Given the description of an element on the screen output the (x, y) to click on. 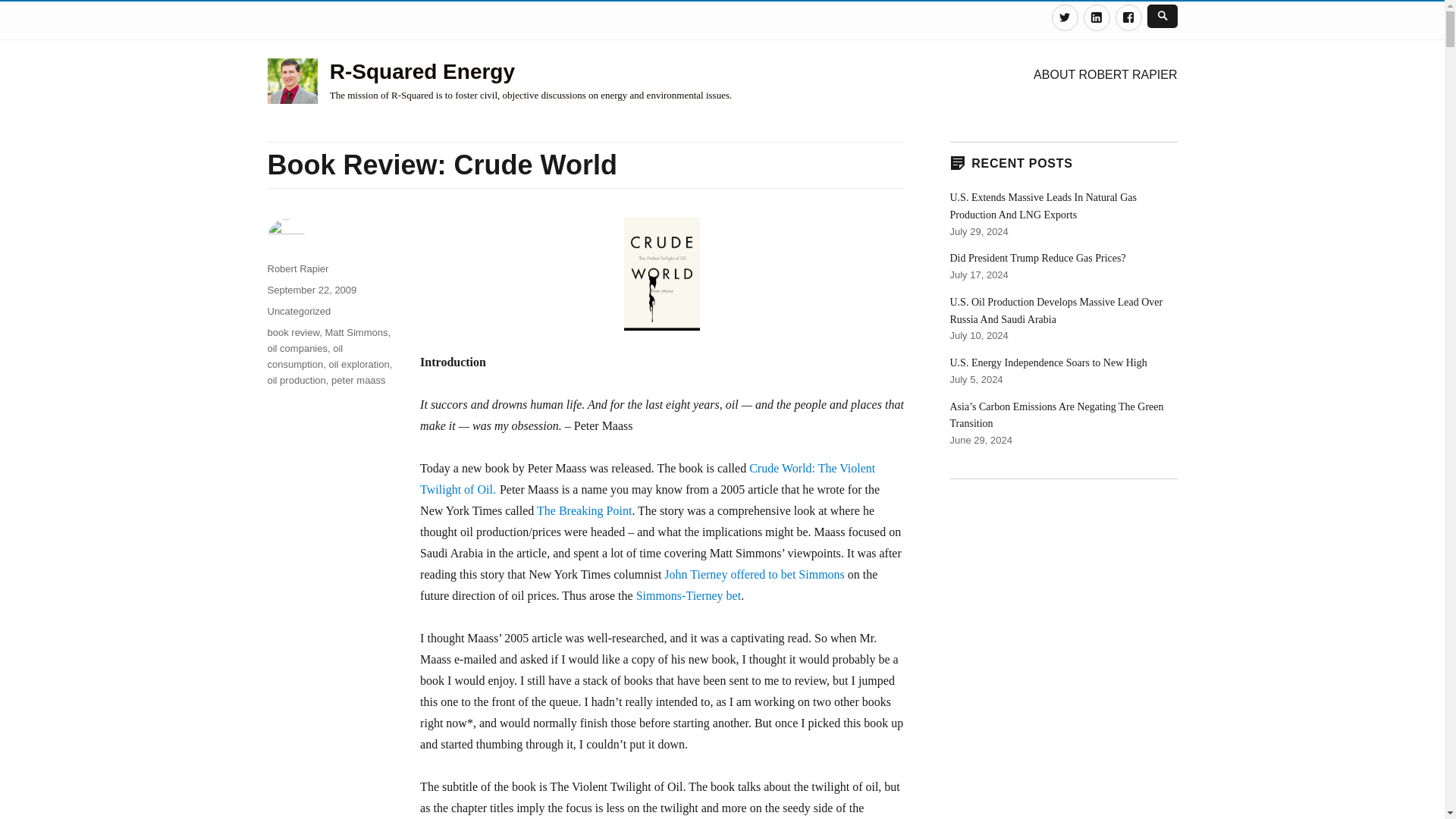
Facebook (1128, 17)
Linkedin (1096, 17)
ABOUT ROBERT RAPIER (1105, 74)
oil production (295, 379)
peter maass (358, 379)
Twitter (1064, 17)
Crude World: The Violent Twilight of Oil. (647, 478)
September 22, 2009 (311, 289)
John Tierney offered to bet Simmons (753, 574)
The Breaking Point (584, 510)
